Given the description of an element on the screen output the (x, y) to click on. 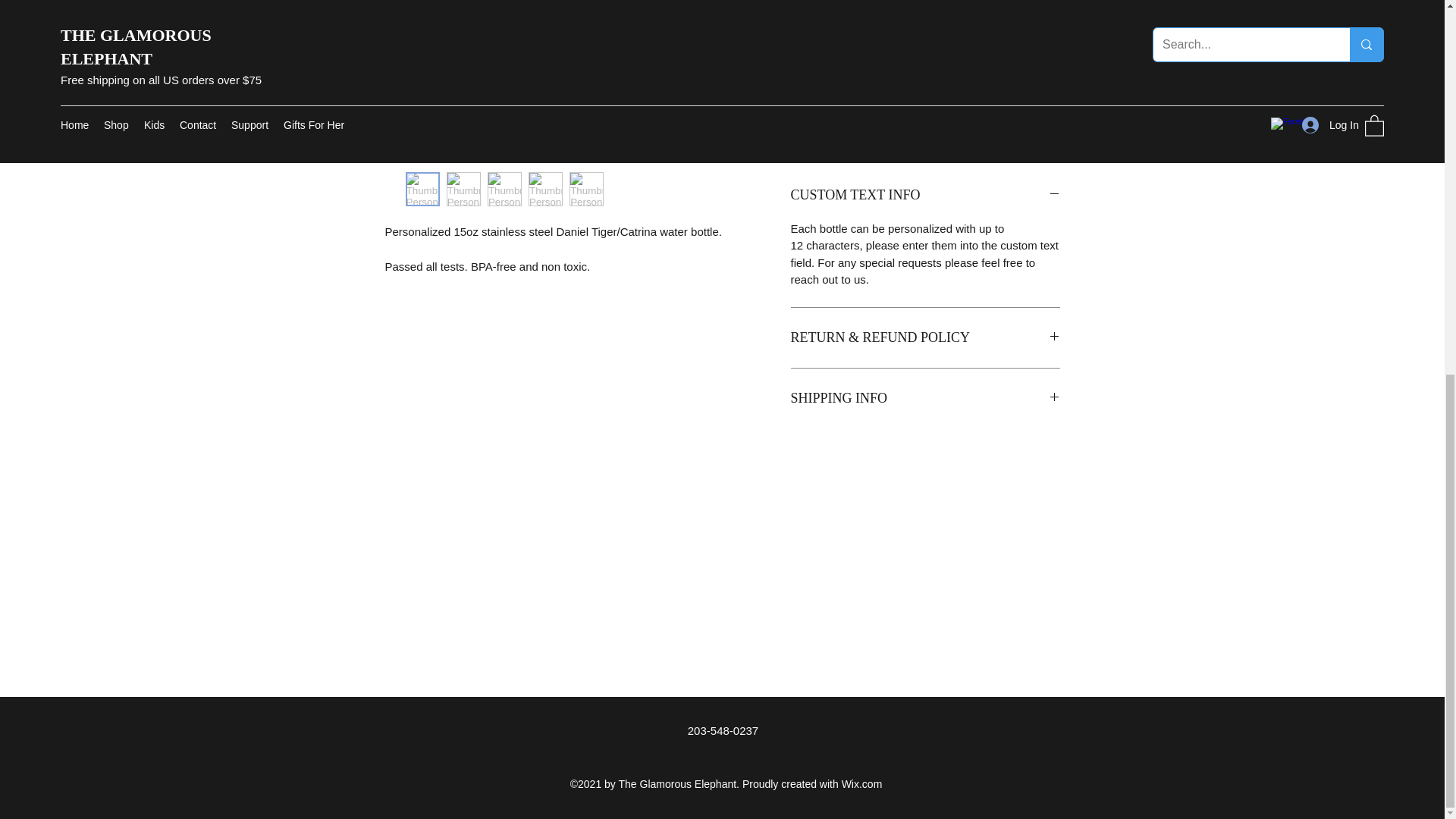
Add to Cart (924, 132)
CUSTOM TEXT INFO (924, 195)
1 (827, 77)
